Given the description of an element on the screen output the (x, y) to click on. 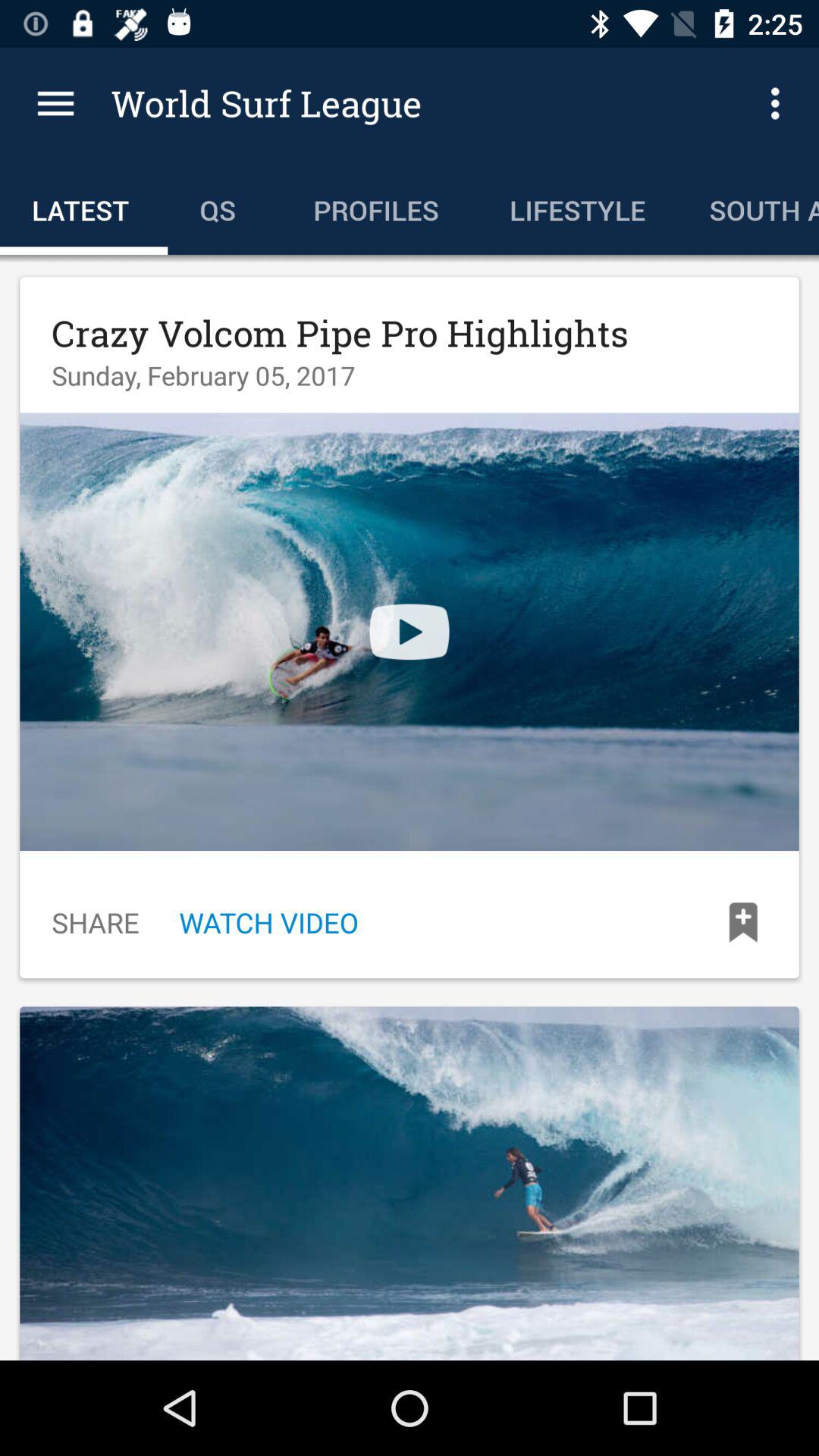
choose icon to the left of the lifestyle icon (379, 206)
